Given the description of an element on the screen output the (x, y) to click on. 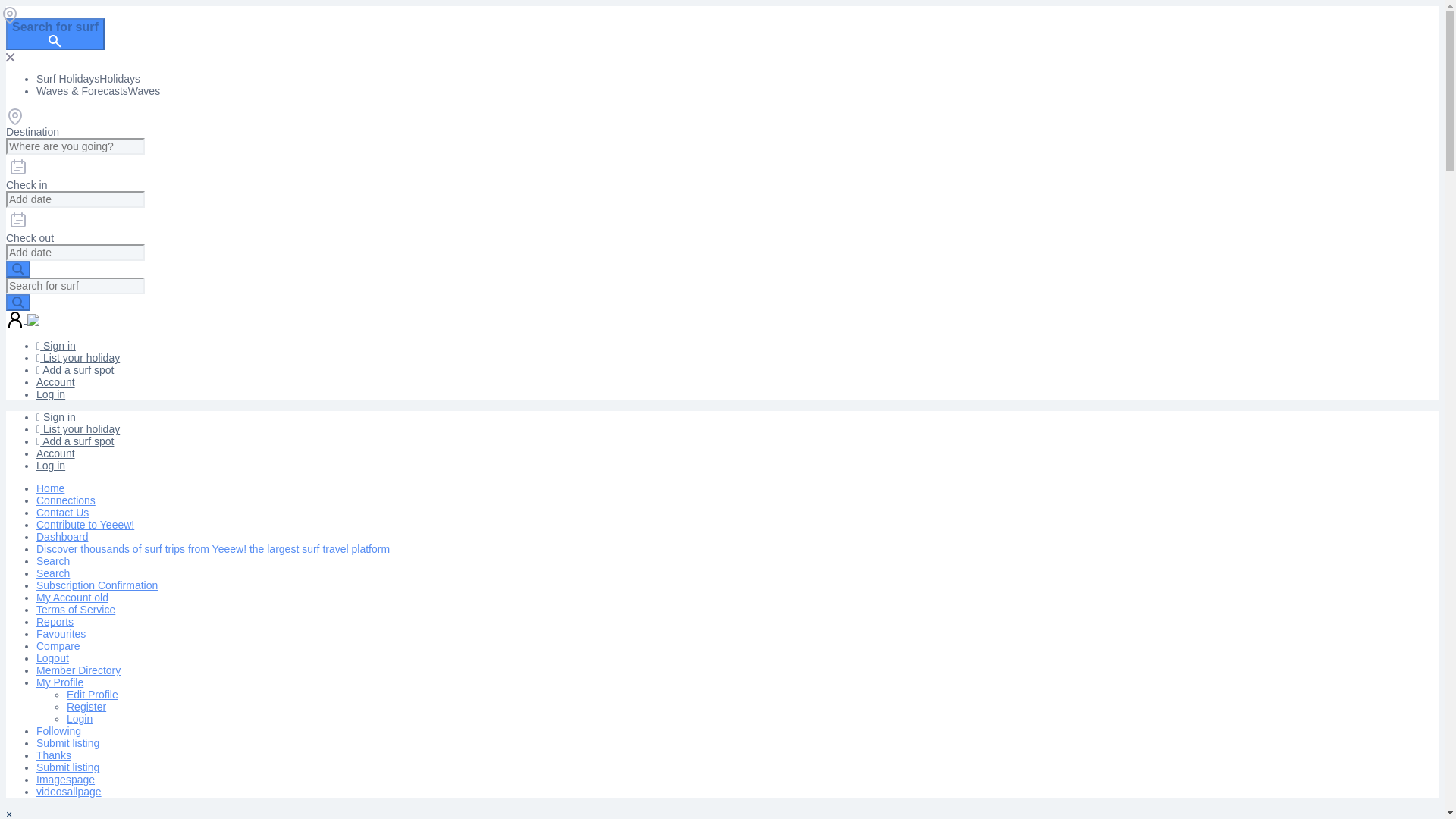
Search for surf (54, 33)
Favourites (60, 633)
Sign in (55, 345)
Register (86, 706)
Dashboard (62, 536)
Add a surf spot (74, 369)
Compare (58, 645)
Member Directory (78, 670)
My Account old (71, 597)
Login (79, 718)
Add a surf spot (74, 440)
Search for: (74, 146)
Search for: (74, 285)
Contribute to Yeeew! (84, 524)
Logout (52, 657)
